Given the description of an element on the screen output the (x, y) to click on. 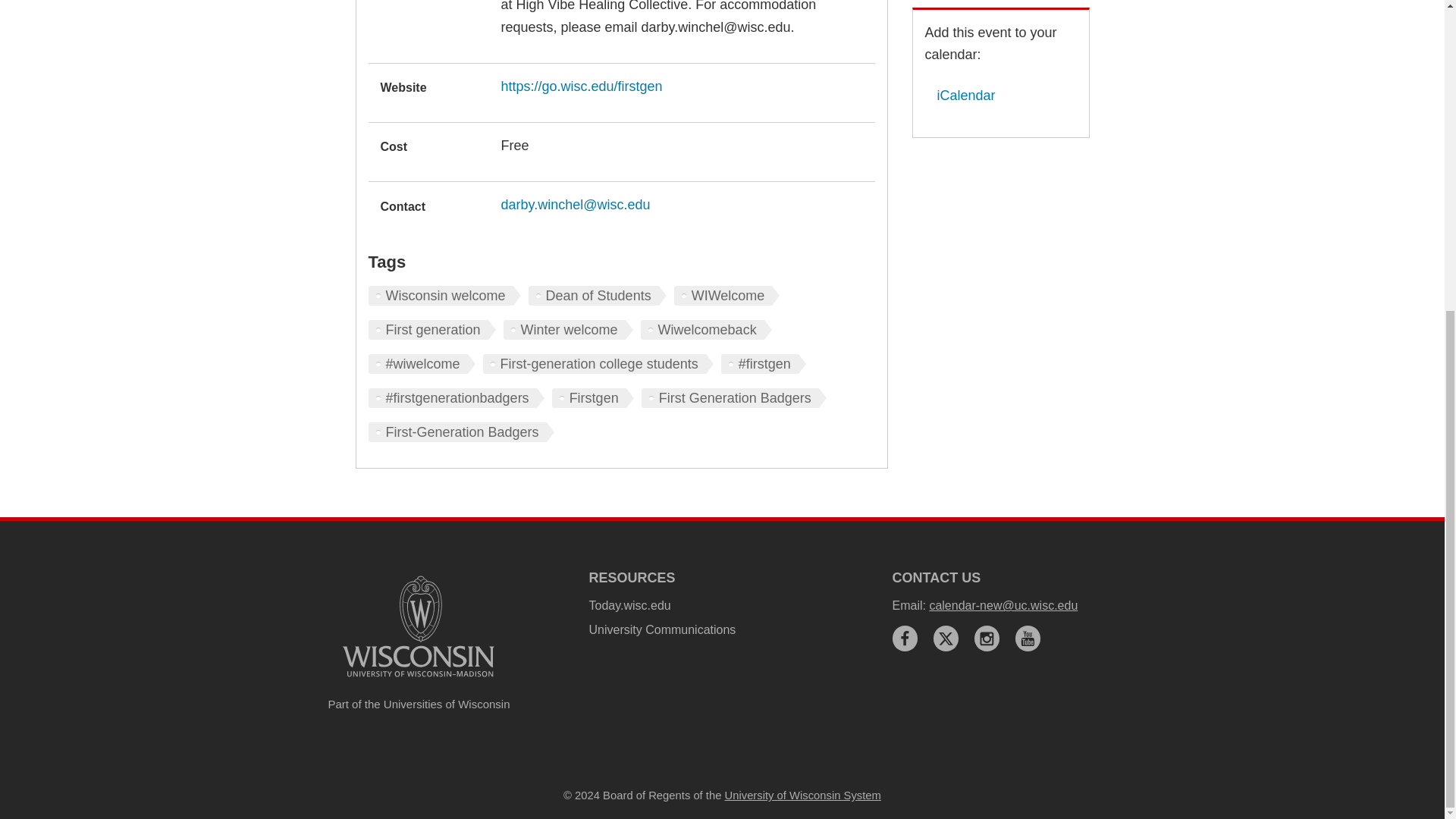
WIWelcome (727, 295)
First-Generation Badgers (461, 432)
Wiwelcomeback (705, 329)
Firstgen (592, 397)
First Generation Badgers (734, 397)
First generation (432, 329)
First-generation college students (598, 363)
Wisconsin welcome (444, 295)
Dean of Students (597, 295)
Winter welcome (568, 329)
